Given the description of an element on the screen output the (x, y) to click on. 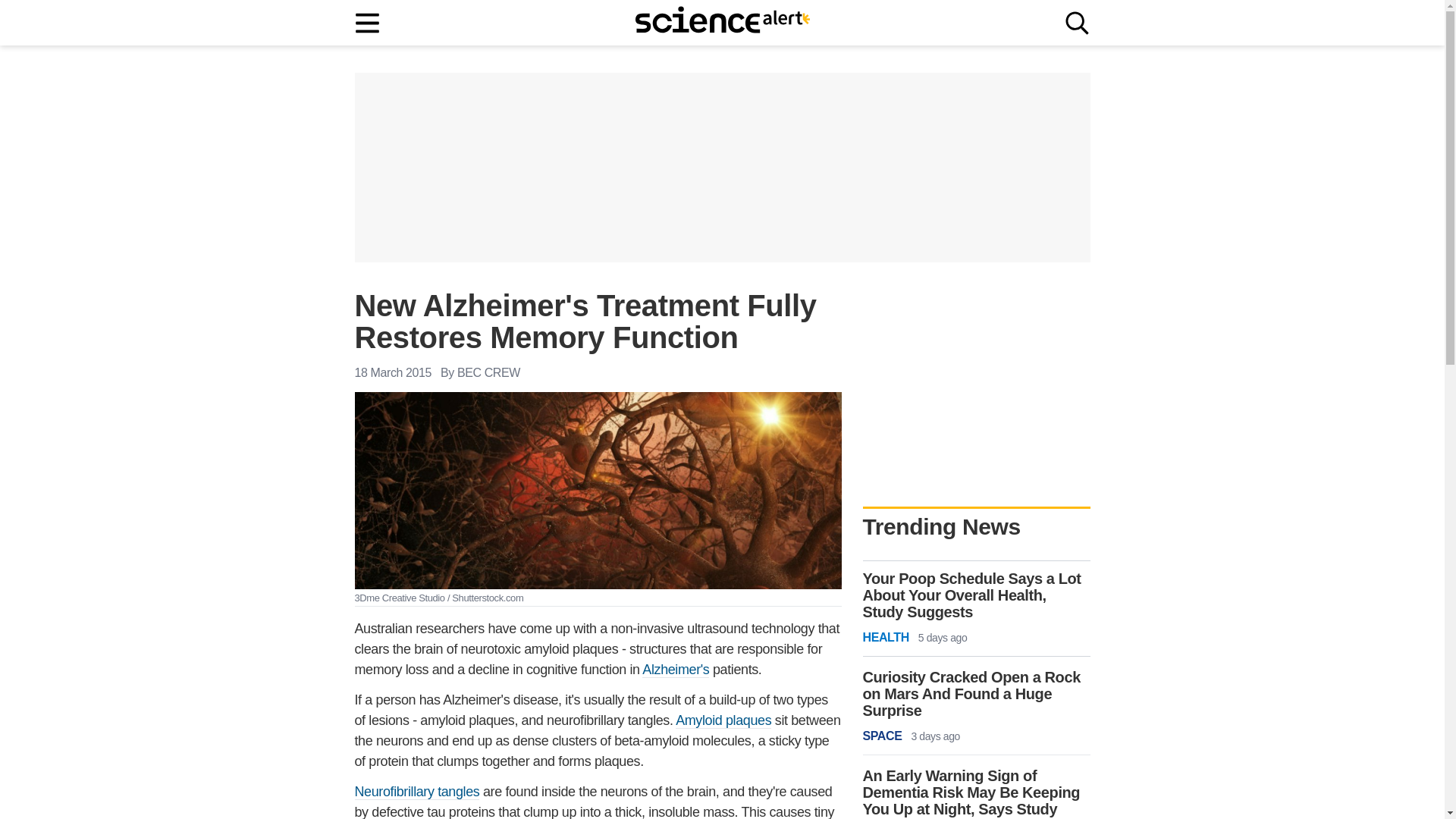
Amyloid plaques (723, 720)
Neurofibrillary tangles (417, 791)
SPACE (882, 736)
Alzheimer's (675, 669)
HEALTH (885, 637)
